Given the description of an element on the screen output the (x, y) to click on. 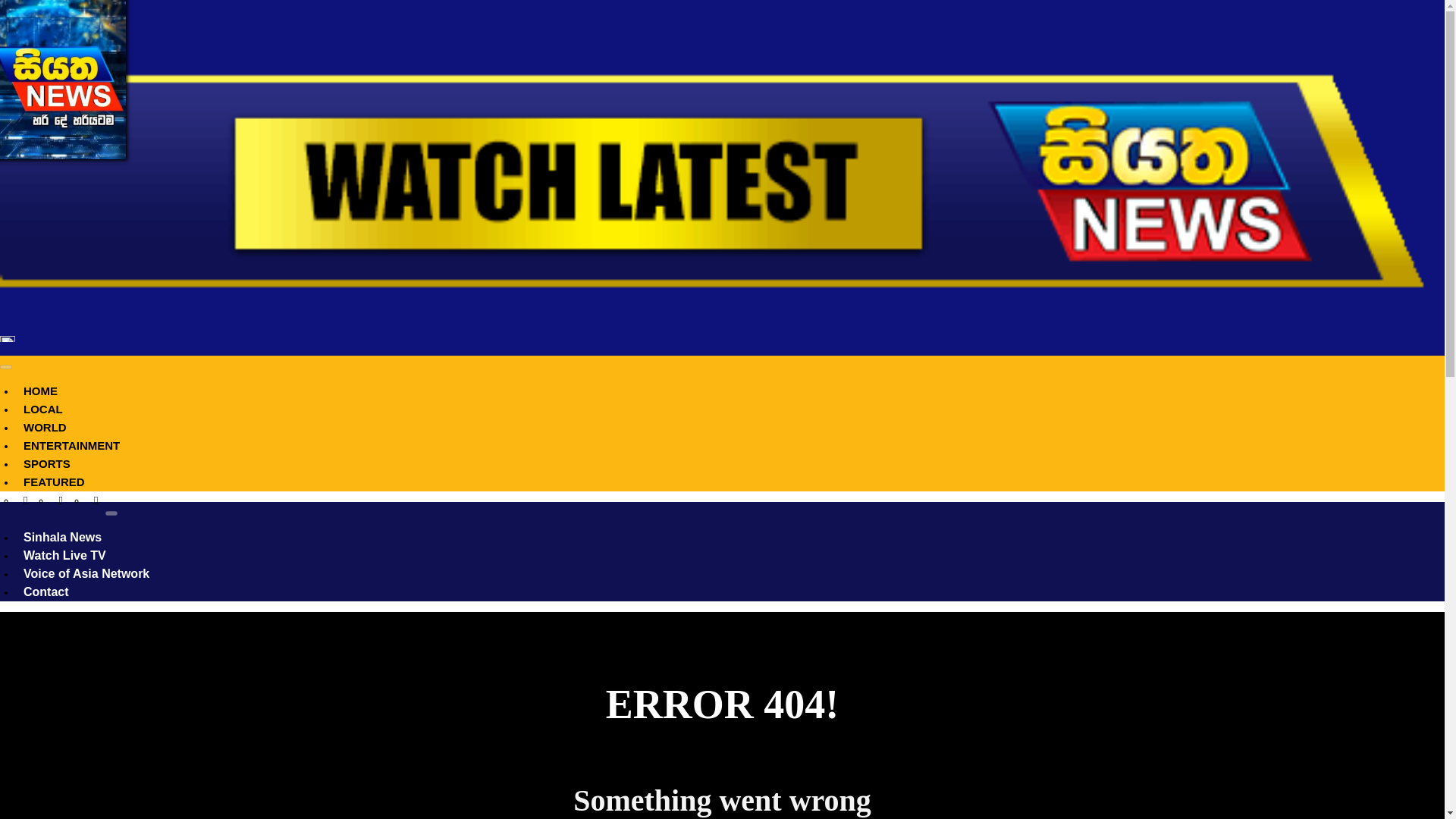
Voice of Asia Network (86, 573)
ENTERTAINMENT (72, 445)
HOME (40, 390)
Contact (46, 591)
Watch Live TV (64, 555)
SPORTS (47, 463)
LOCAL (42, 408)
WORLD (45, 427)
Toggle navigation (5, 366)
FEATURED (54, 481)
Toggle navigation (110, 513)
Sinhala News (62, 536)
